Given the description of an element on the screen output the (x, y) to click on. 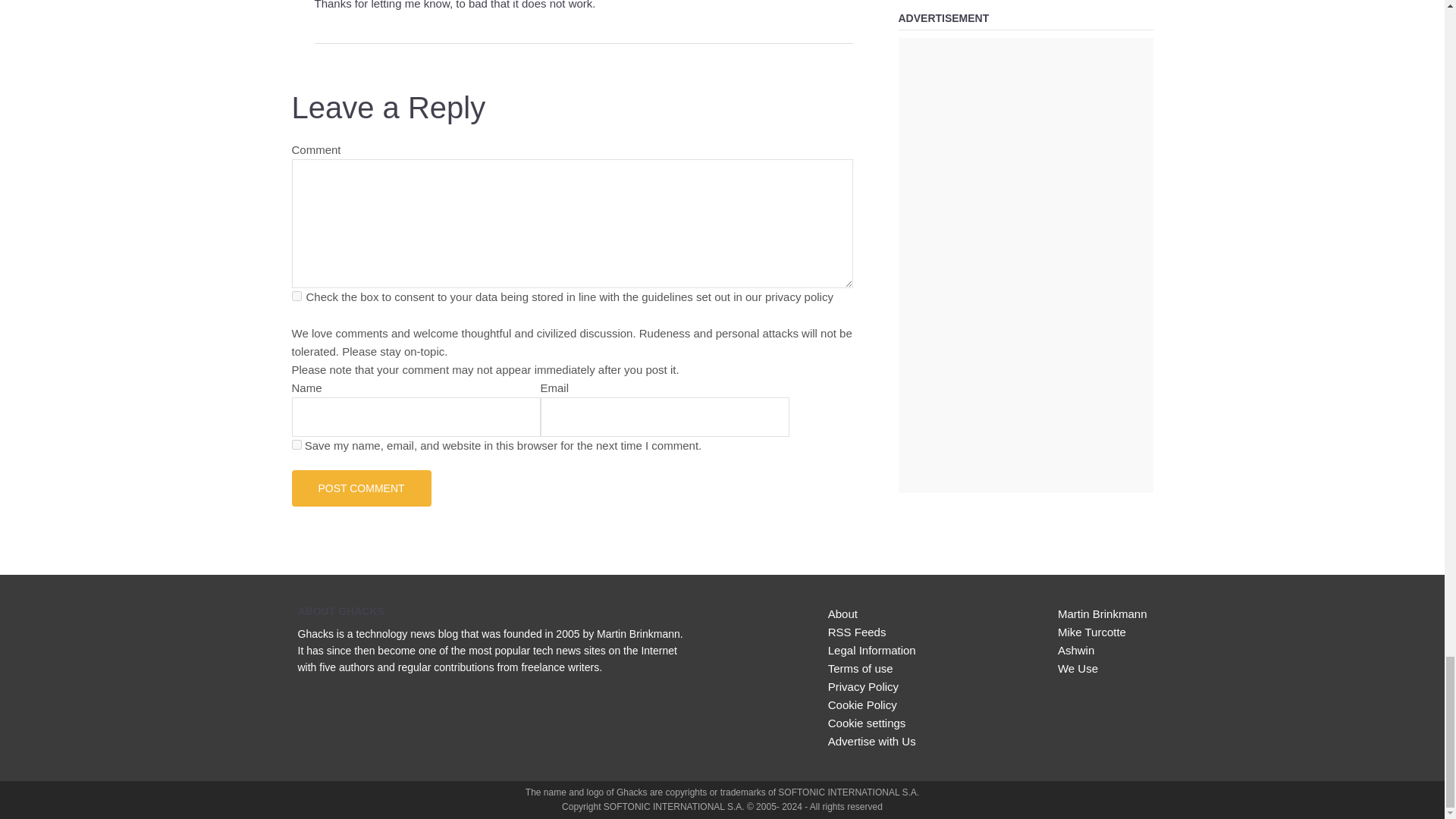
yes (296, 443)
Post Comment (360, 487)
privacy-key (296, 296)
